Given the description of an element on the screen output the (x, y) to click on. 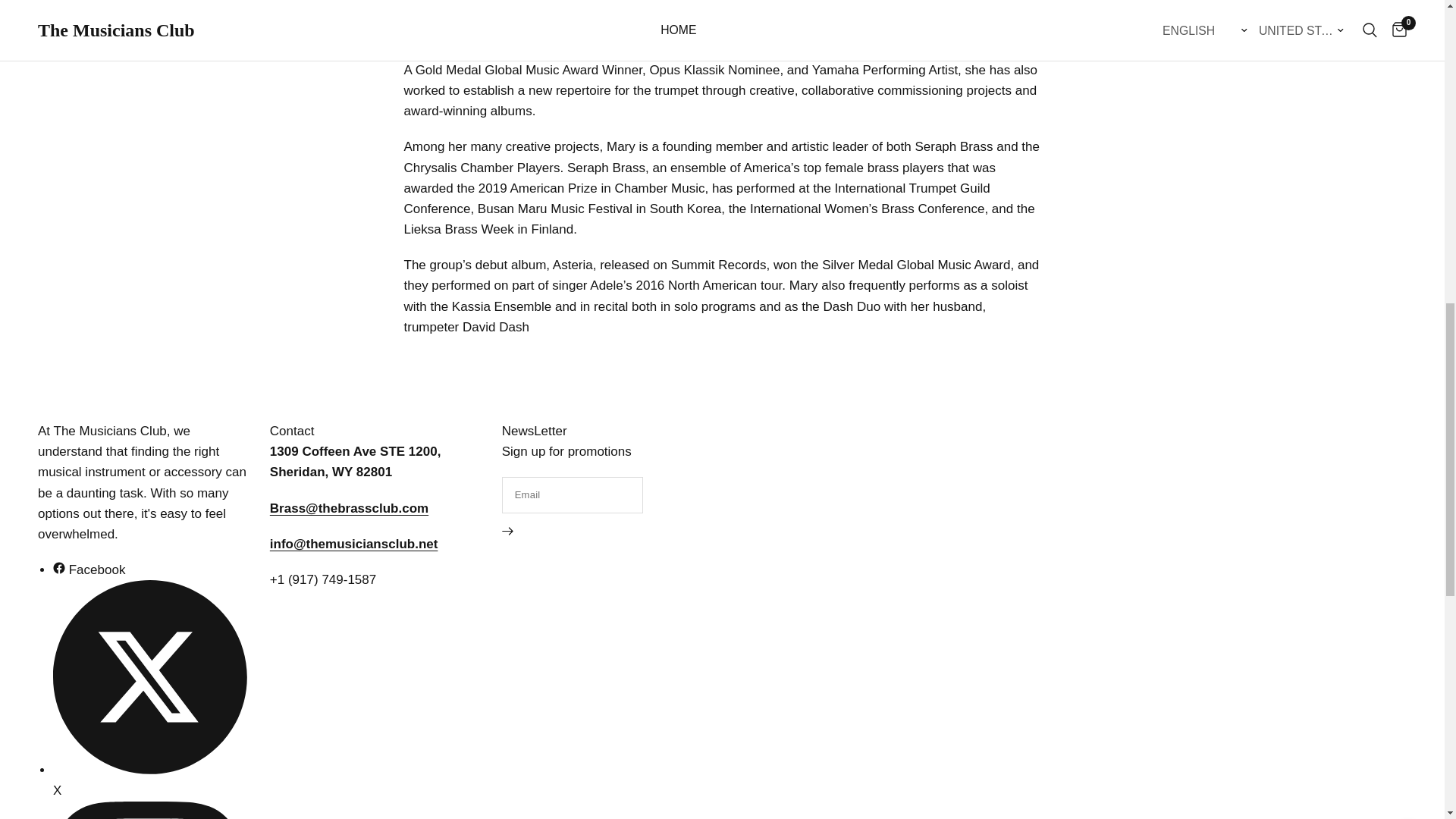
Facebook (88, 569)
Twitter (149, 779)
X (149, 779)
Facebook (88, 569)
